Given the description of an element on the screen output the (x, y) to click on. 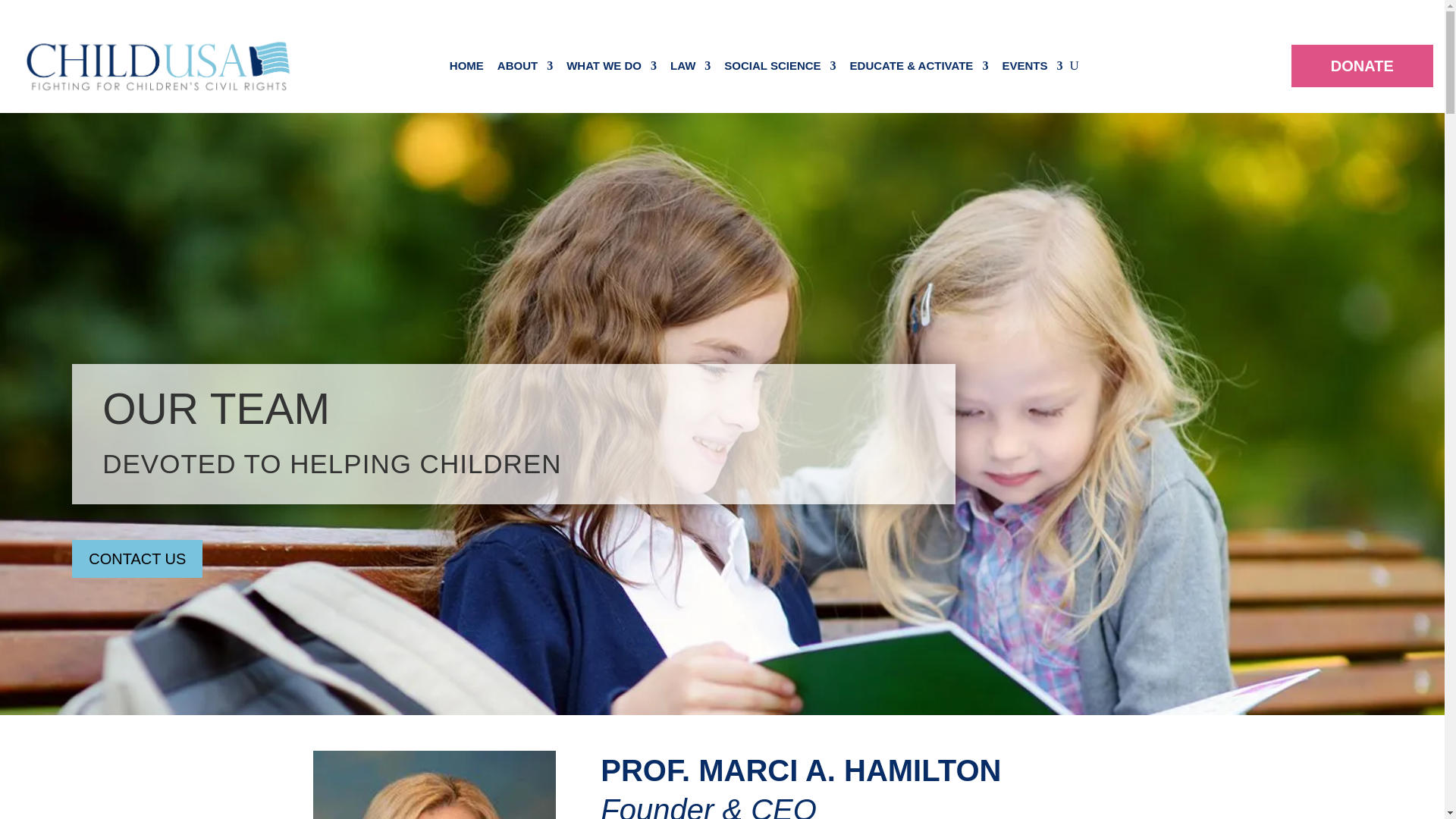
ABOUT (525, 68)
WHAT WE DO (611, 68)
EVENTS (1031, 68)
SOCIAL SCIENCE (779, 68)
LAW (689, 68)
HOME (466, 68)
